Given the description of an element on the screen output the (x, y) to click on. 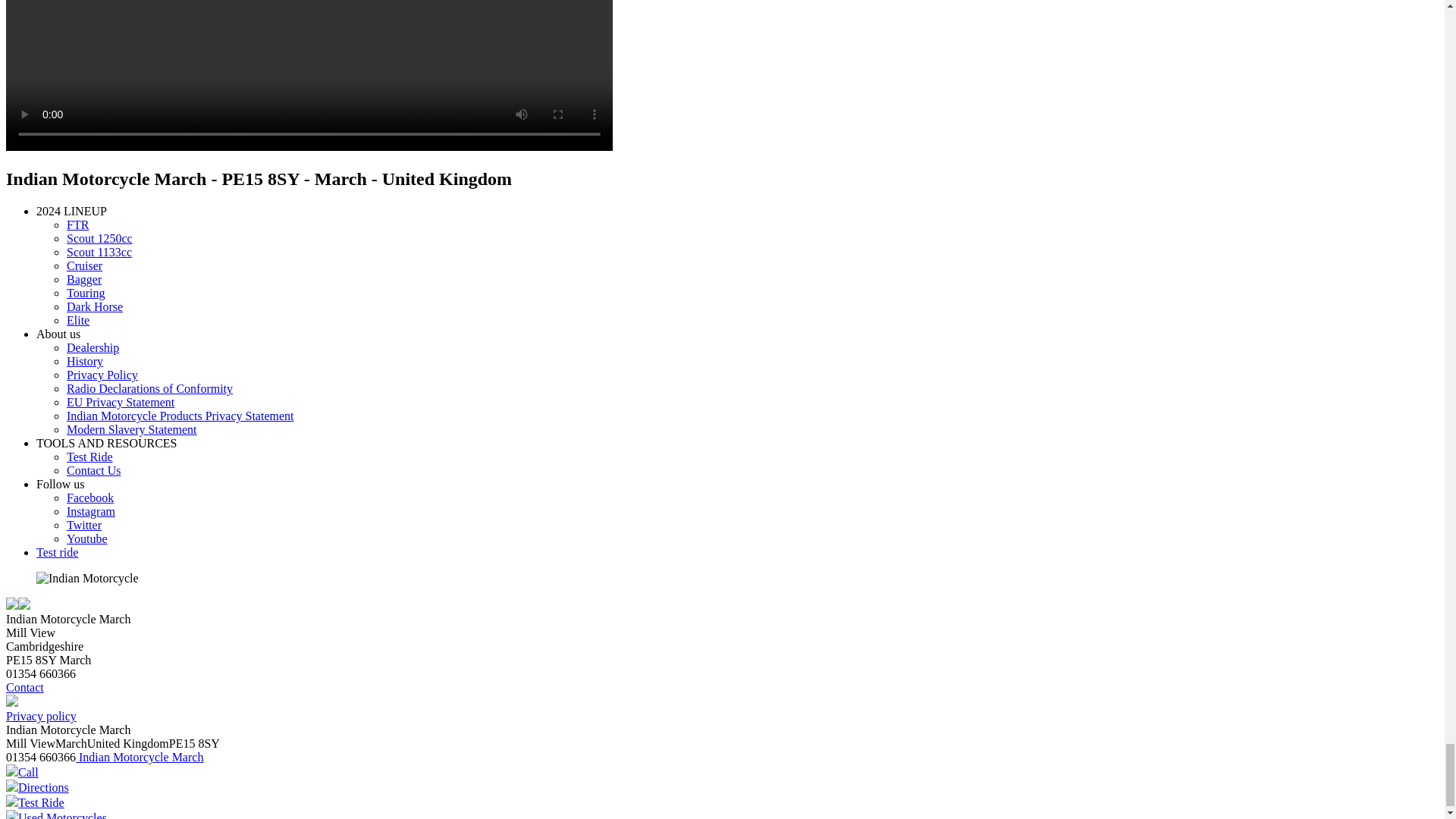
Indian Motorcycle (87, 578)
